Given the description of an element on the screen output the (x, y) to click on. 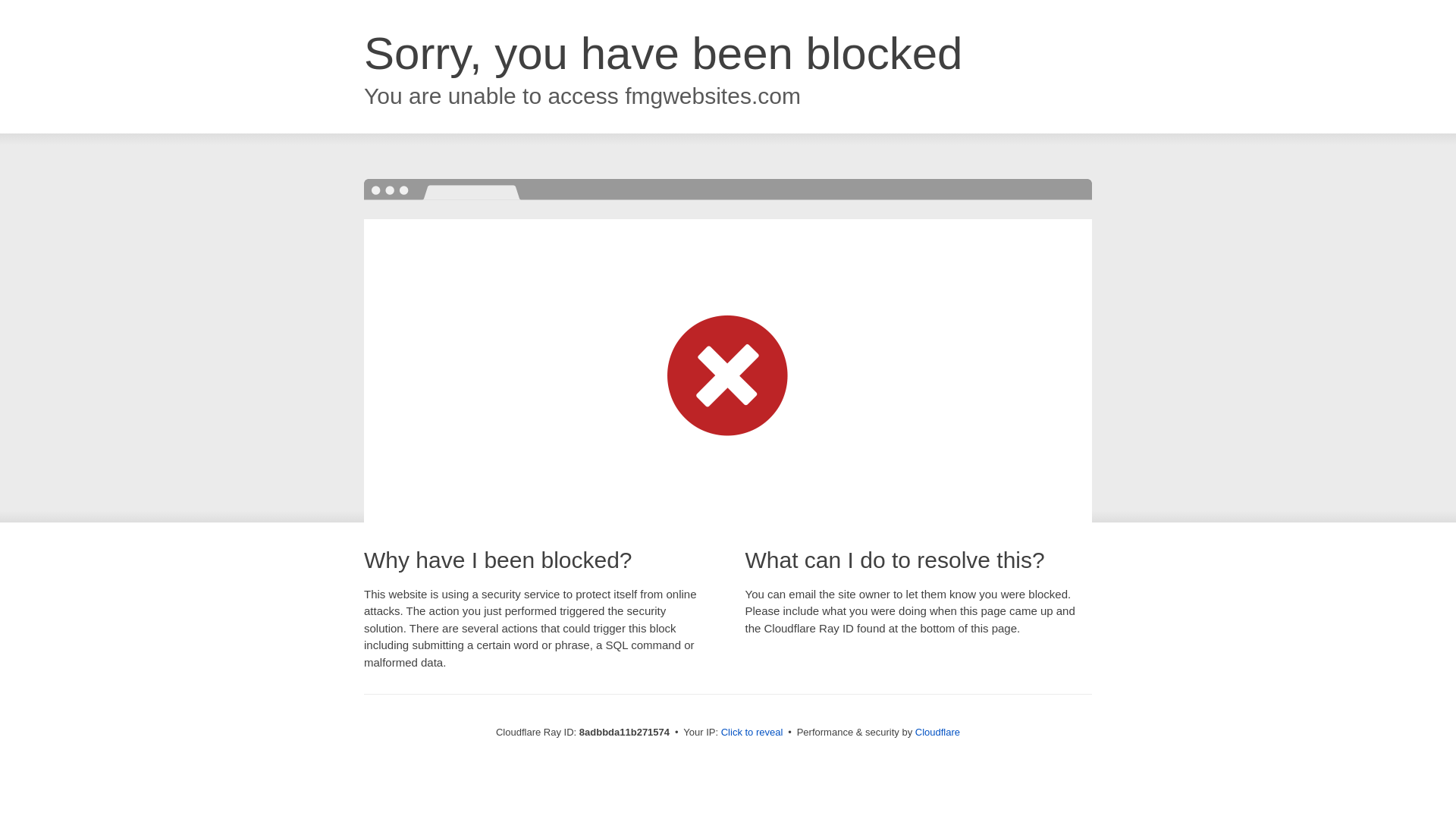
Click to reveal (751, 732)
Cloudflare (937, 731)
